Given the description of an element on the screen output the (x, y) to click on. 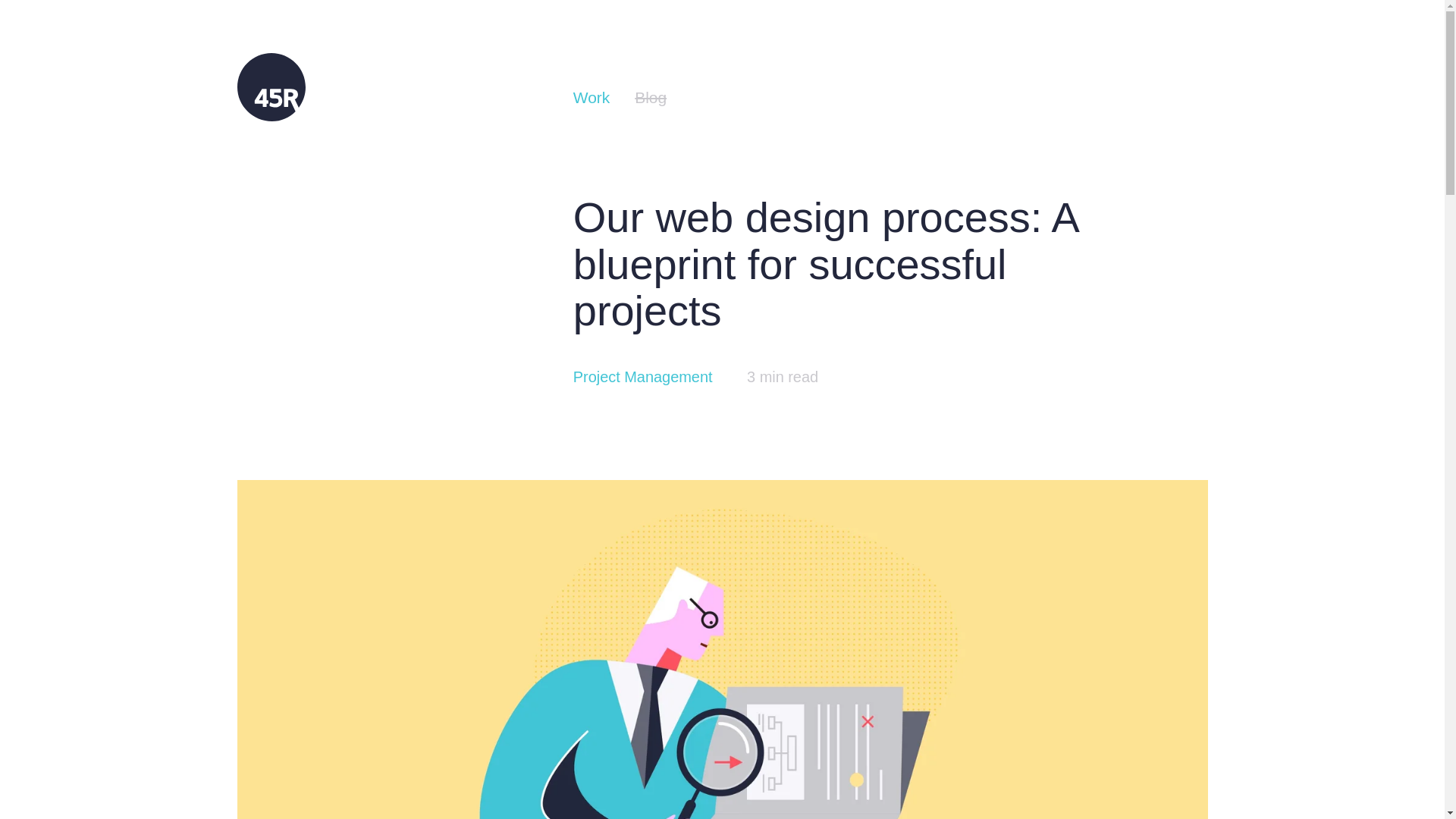
Project Management (643, 376)
Work (591, 97)
Blog (650, 97)
